Given the description of an element on the screen output the (x, y) to click on. 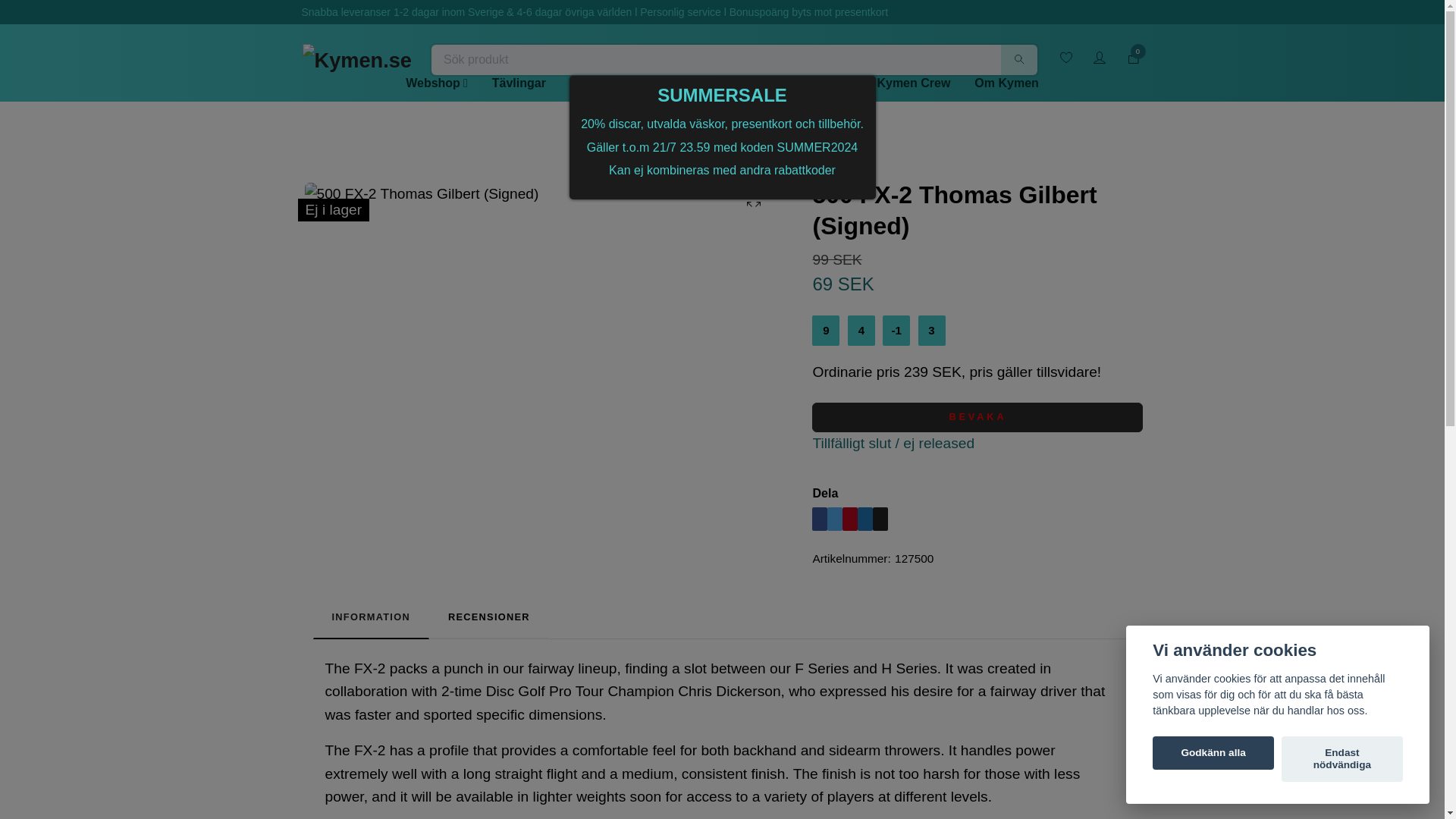
Sponsring (746, 83)
Kymen.se (355, 59)
Discgolfinstruktioner (630, 83)
Kymen Crew (913, 83)
0 (1132, 57)
Webshop (436, 83)
Om Kymen (1005, 83)
Kalender (826, 83)
